Given the description of an element on the screen output the (x, y) to click on. 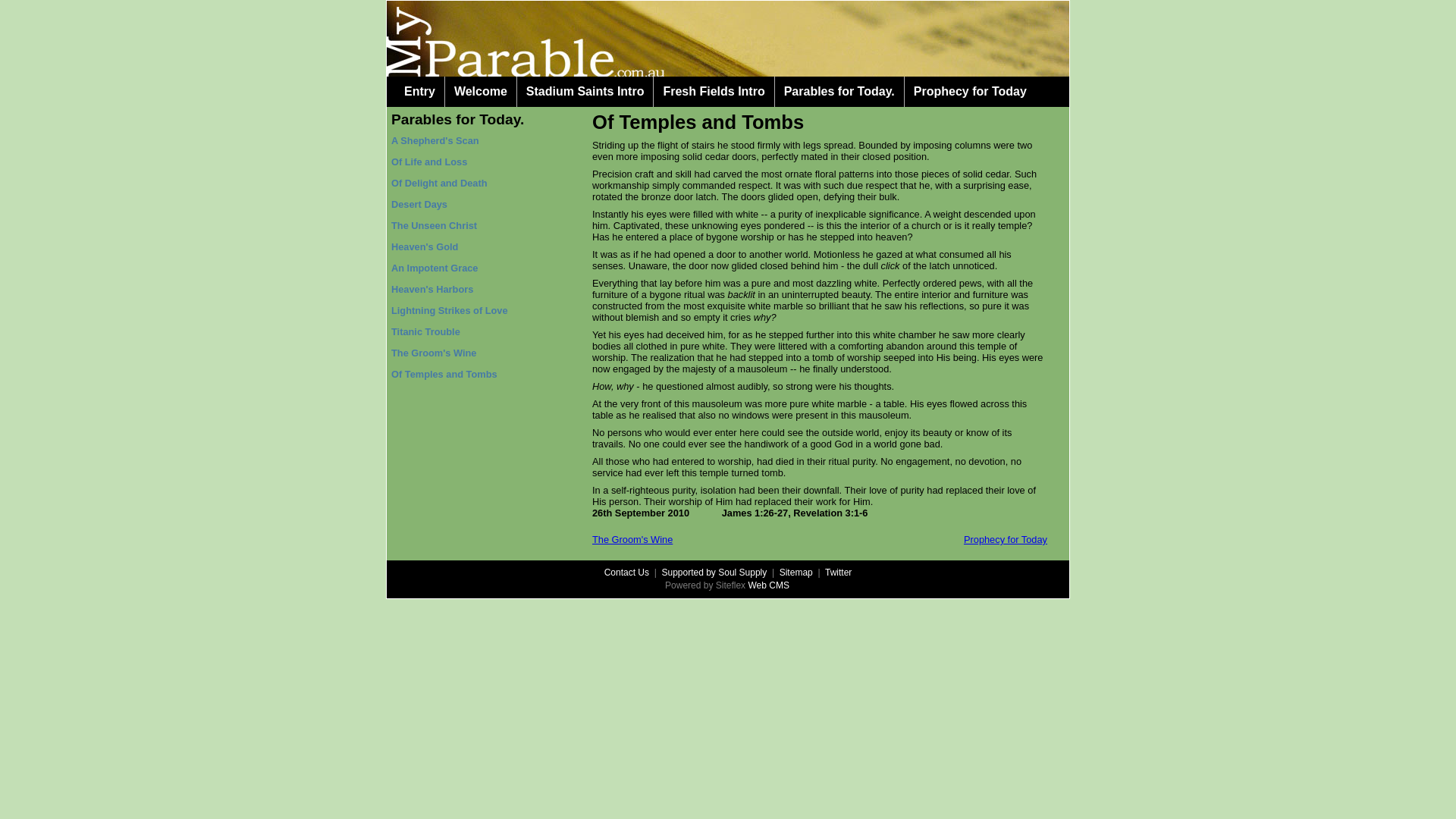
Contact Us Element type: text (626, 572)
Heaven's Gold Element type: text (424, 246)
The Groom's Wine Element type: text (433, 352)
Lightning Strikes of Love Element type: text (449, 310)
Titanic Trouble Element type: text (425, 331)
A Shepherd's Scan Element type: text (435, 140)
Entry Element type: text (419, 91)
Fresh Fields Intro Element type: text (713, 91)
An Impotent Grace Element type: text (434, 267)
Stadium Saints Intro Element type: text (585, 91)
My Parable Website Element type: hover (727, 38)
Sitemap Element type: text (795, 572)
Prophecy for Today Element type: text (1005, 539)
Supported by Soul Supply Element type: text (713, 572)
Welcome Element type: text (480, 91)
Heaven's Harbors Element type: text (432, 288)
Of Life and Loss Element type: text (429, 161)
Twitter Element type: text (838, 572)
Of Temples and Tombs Element type: text (444, 373)
Prophecy for Today Element type: text (969, 91)
Parables for Today. Element type: text (839, 91)
Of Delight and Death Element type: text (439, 182)
The Unseen Christ Element type: text (433, 225)
The Groom's Wine Element type: text (632, 539)
Desert Days Element type: text (419, 204)
Parables for Today. Element type: text (457, 119)
Web CMS Element type: text (768, 585)
